Given the description of an element on the screen output the (x, y) to click on. 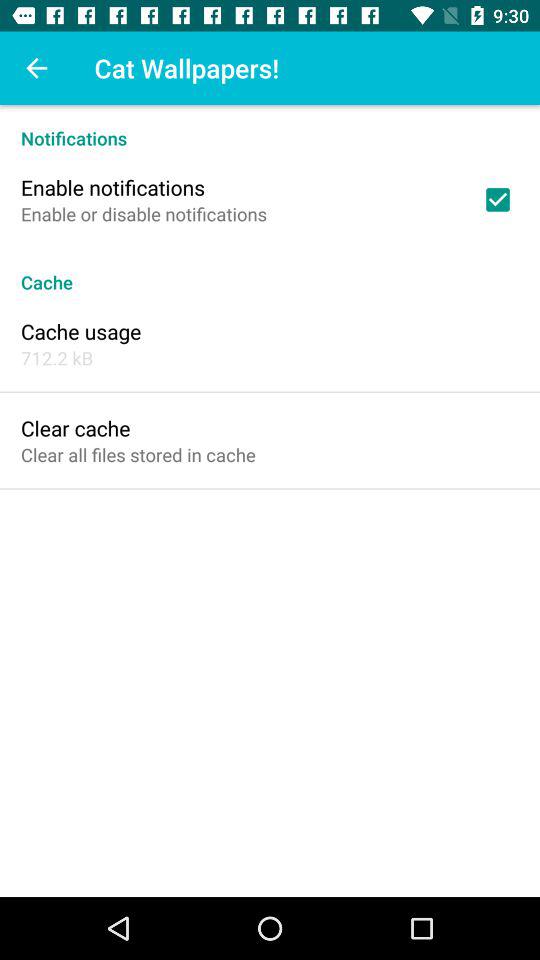
open enable or disable icon (143, 213)
